Given the description of an element on the screen output the (x, y) to click on. 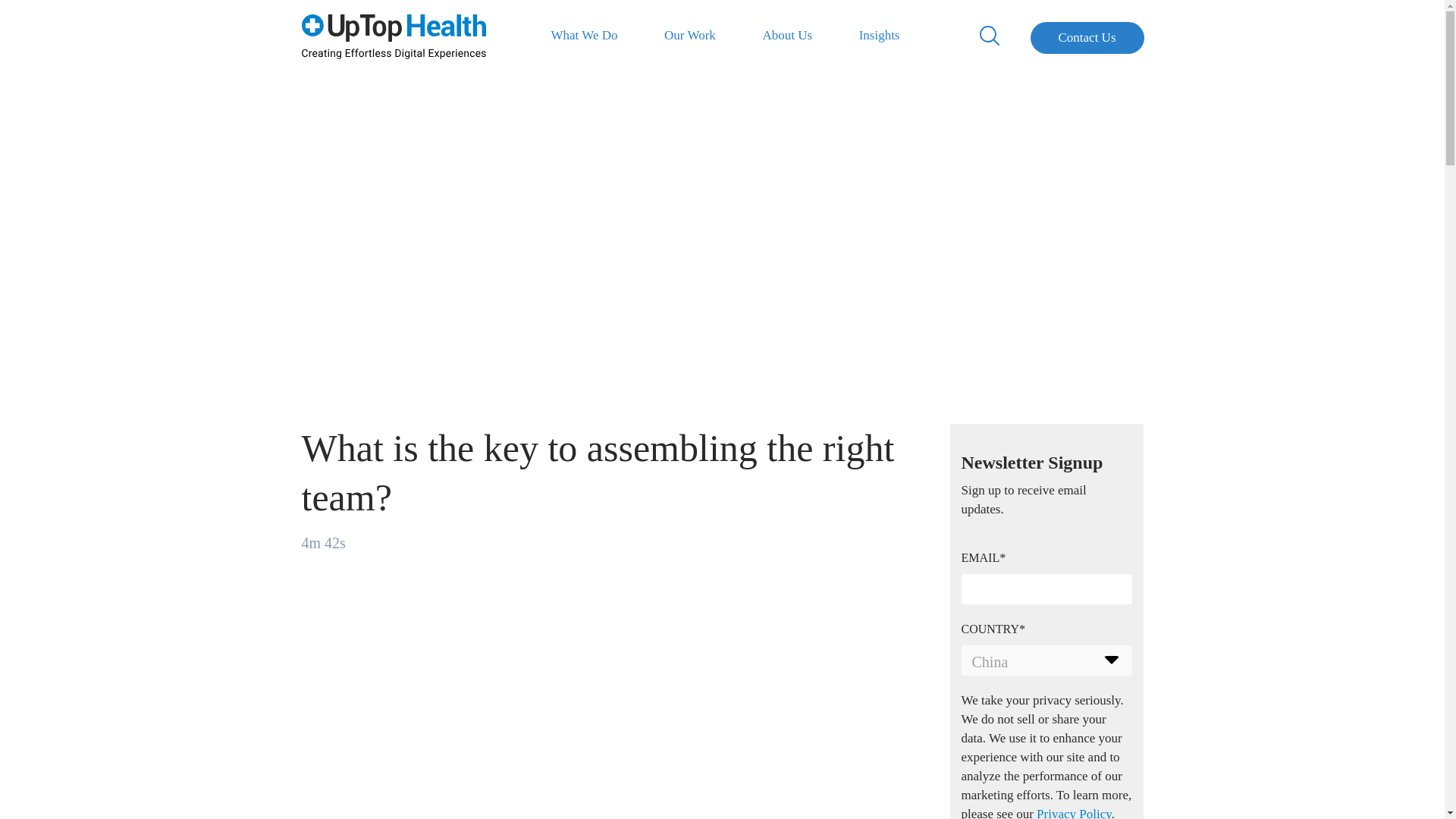
What We Do (584, 34)
Contact Us (1085, 38)
Insights (879, 34)
Our Work (690, 34)
About Us (787, 34)
